Given the description of an element on the screen output the (x, y) to click on. 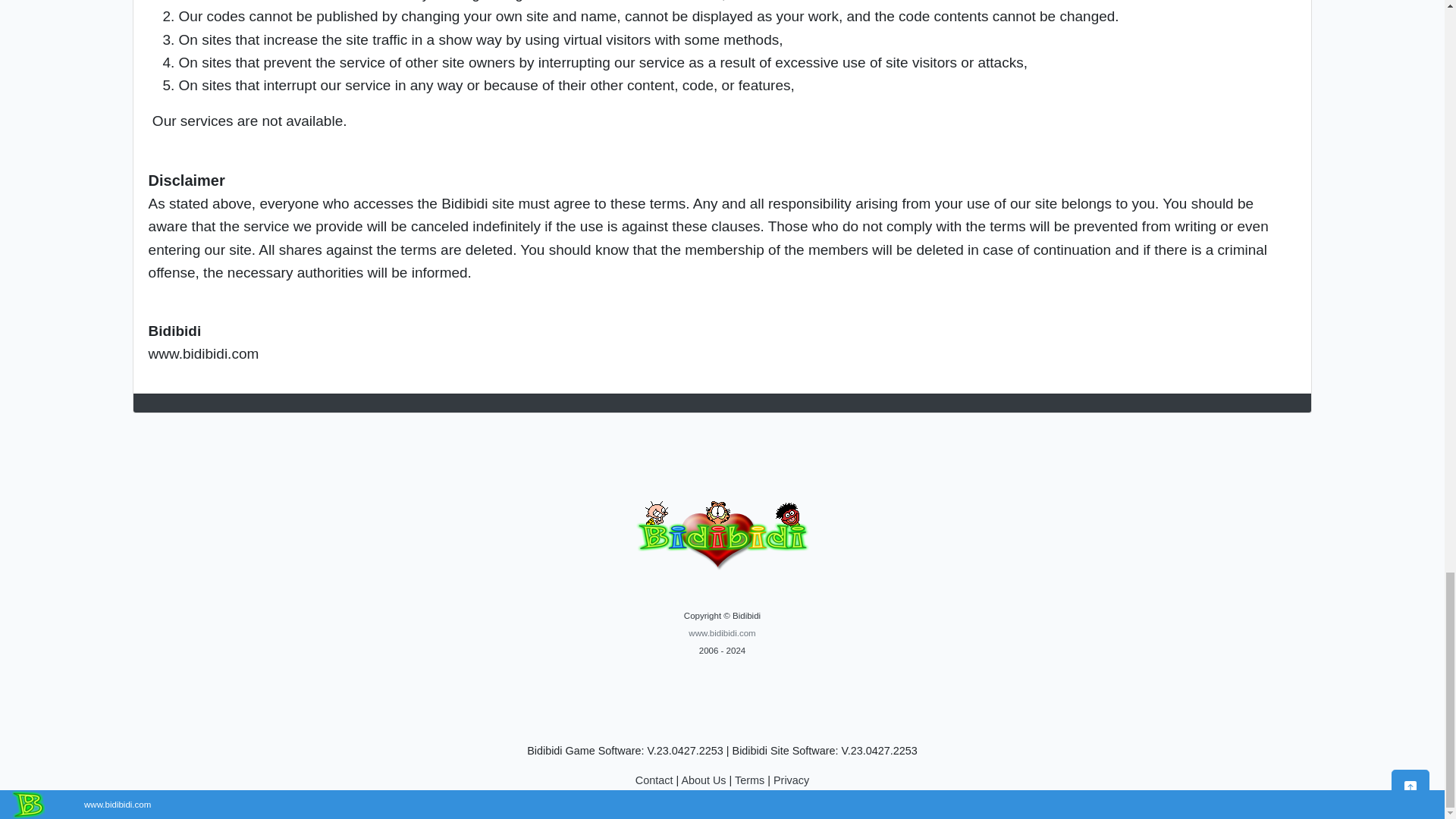
Home (721, 633)
Contact (653, 779)
Privacy (791, 779)
Terms (749, 779)
About Us (703, 779)
www.bidibidi.com (721, 633)
